Given the description of an element on the screen output the (x, y) to click on. 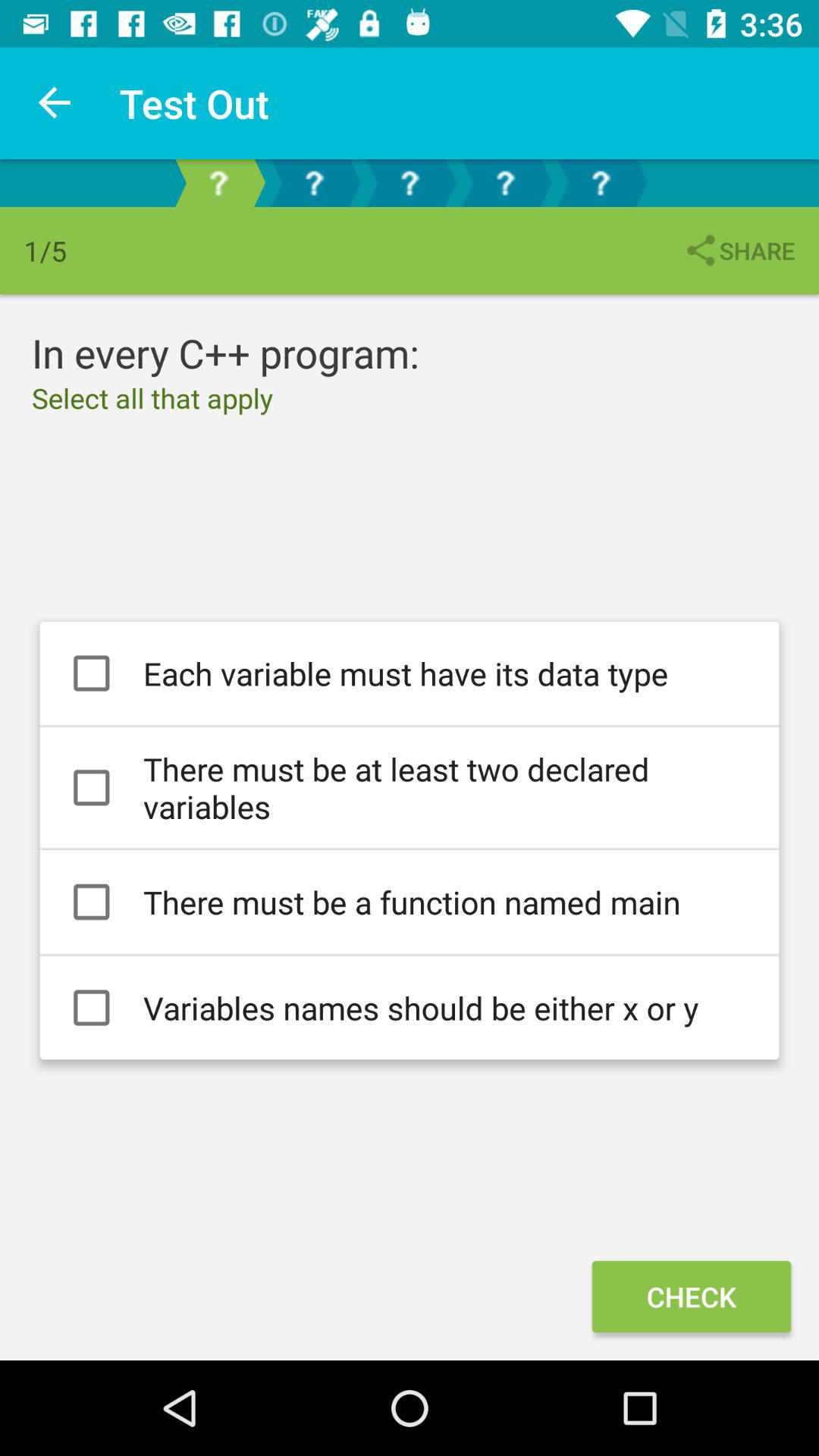
launch the icon at the bottom right corner (691, 1296)
